Given the description of an element on the screen output the (x, y) to click on. 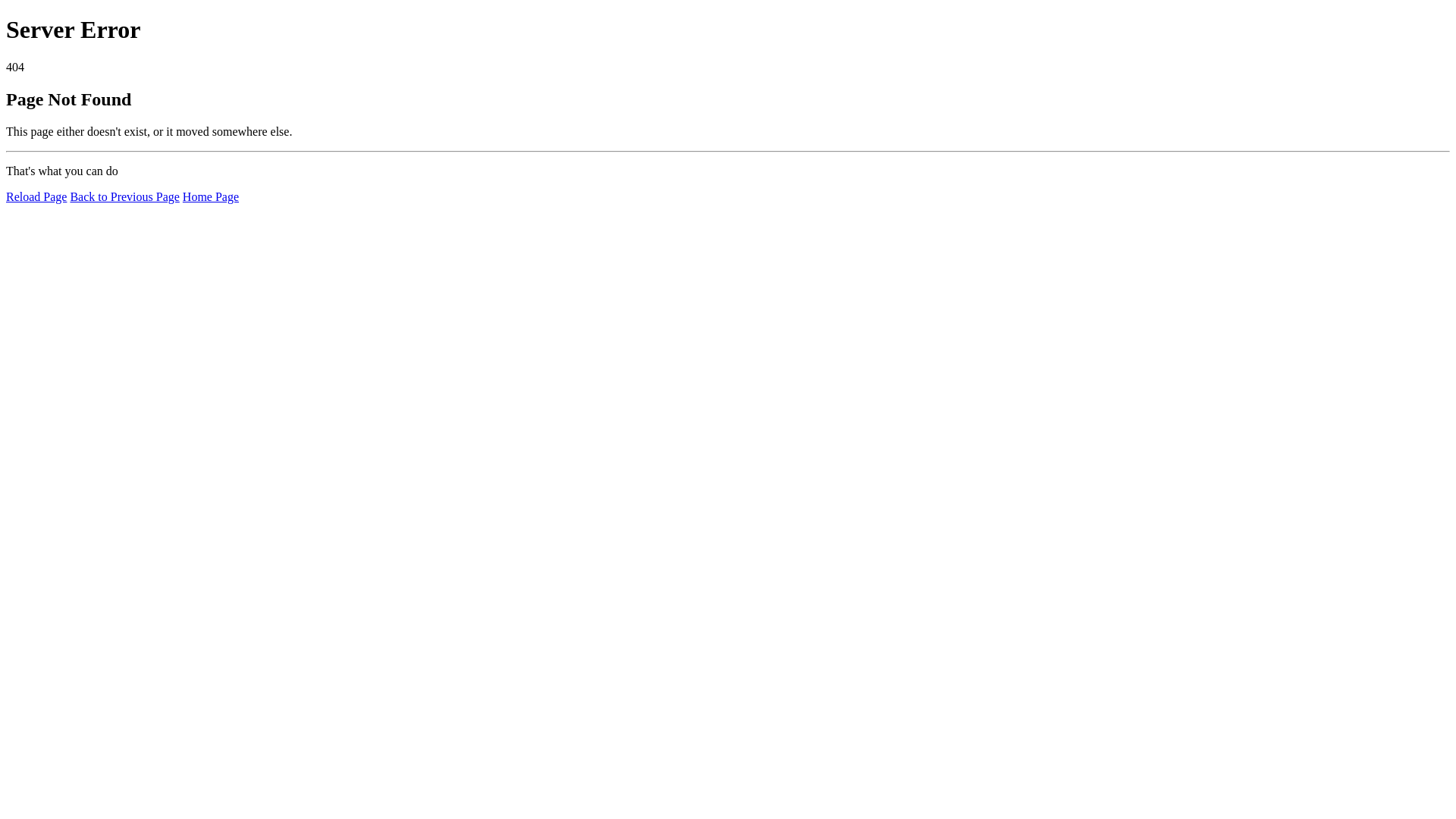
Home Page Element type: text (210, 196)
Back to Previous Page Element type: text (123, 196)
Reload Page Element type: text (36, 196)
